Given the description of an element on the screen output the (x, y) to click on. 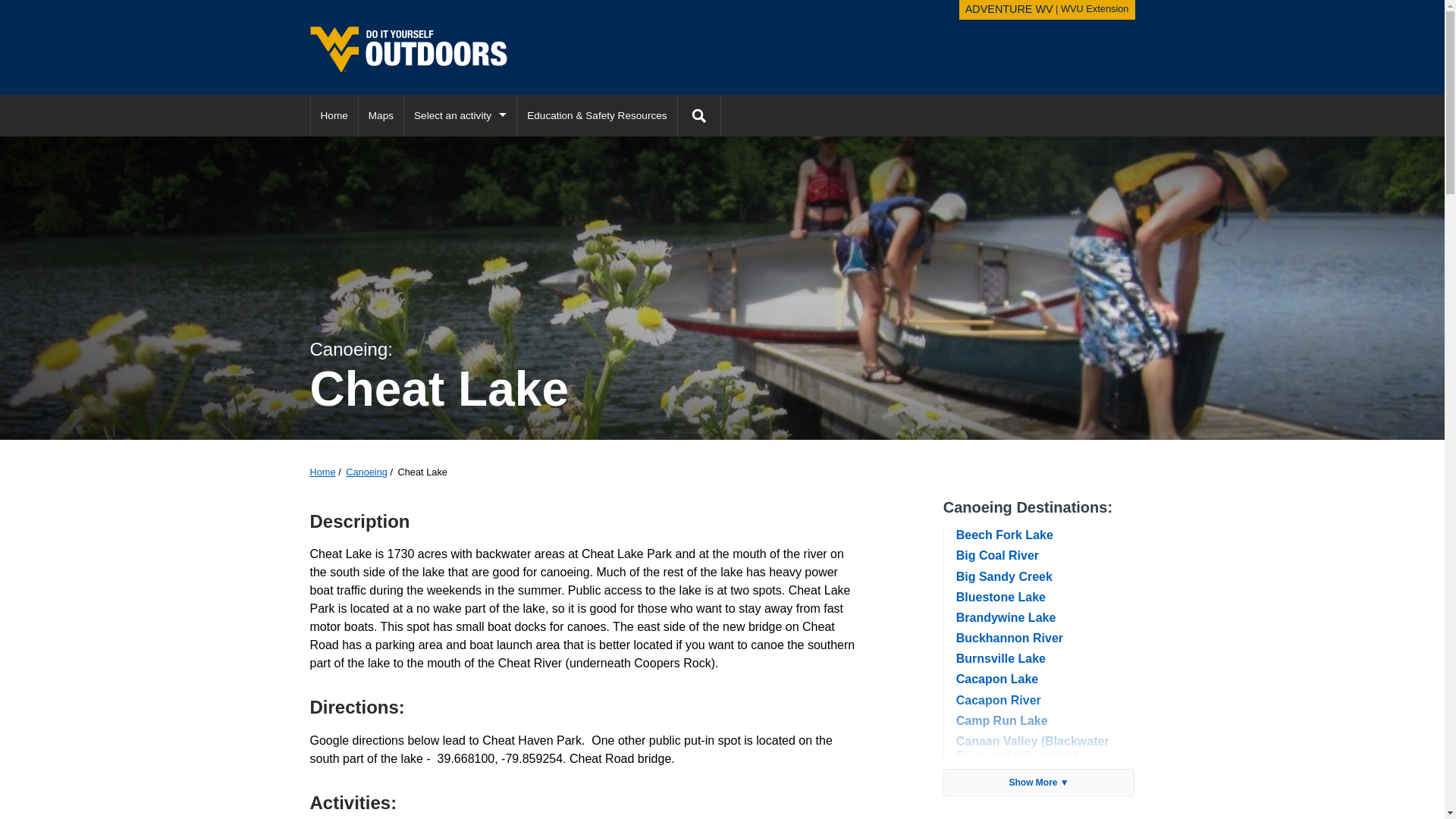
Cacapon River (699, 115)
Select an activity (998, 699)
Big Coal River (460, 115)
Cacapon Lake (997, 554)
Home (997, 678)
Home (321, 471)
WVU Extension (333, 115)
Camp Run Lake (1095, 8)
Burnsville Lake (1002, 720)
